Given the description of an element on the screen output the (x, y) to click on. 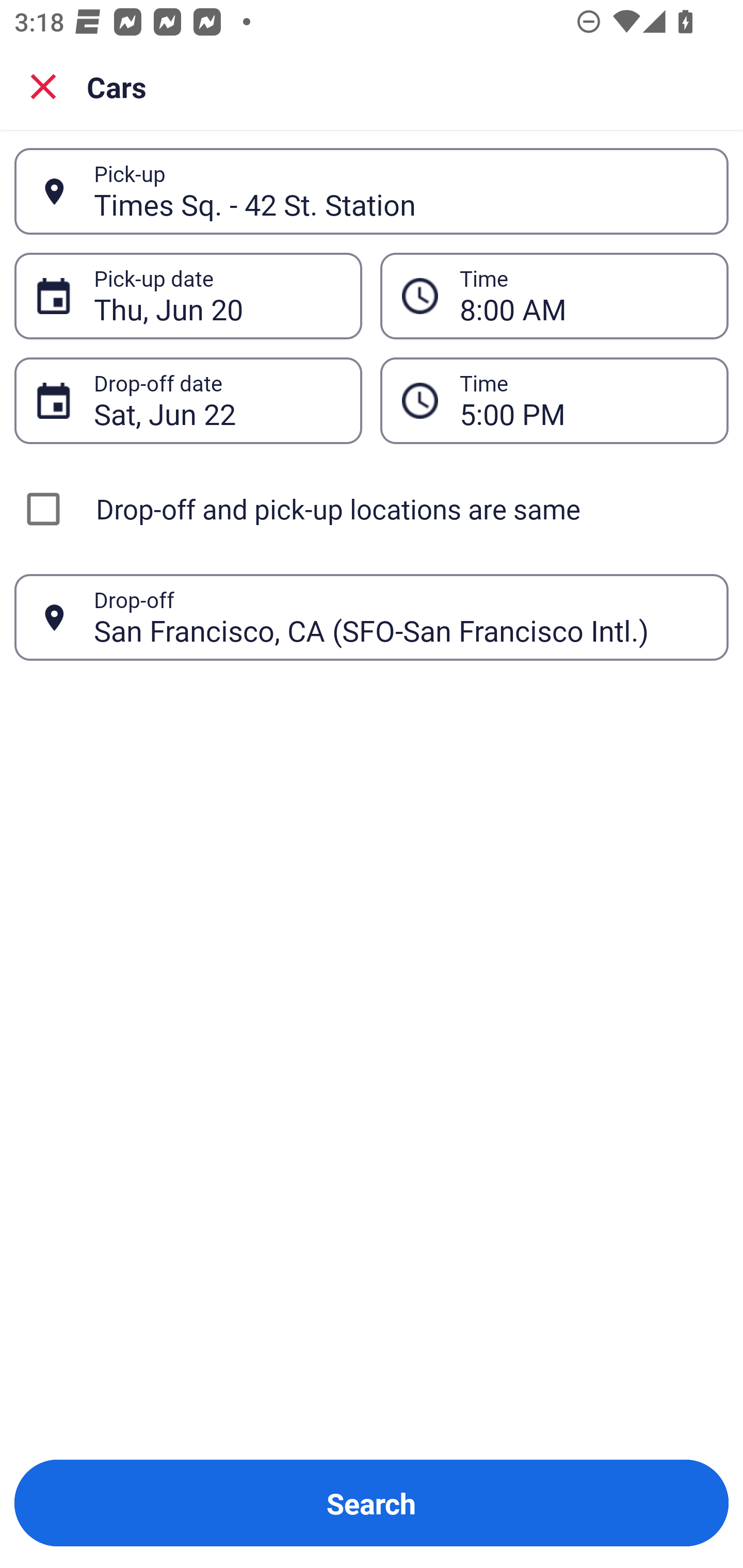
Close search screen (43, 86)
Times Sq. - 42 St. Station Pick-up (371, 191)
Times Sq. - 42 St. Station (399, 191)
Thu, Jun 20 Pick-up date (188, 295)
8:00 AM (554, 295)
Thu, Jun 20 (216, 296)
8:00 AM (582, 296)
Sat, Jun 22 Drop-off date (188, 400)
5:00 PM (554, 400)
Sat, Jun 22 (216, 400)
5:00 PM (582, 400)
Drop-off and pick-up locations are same (371, 508)
San Francisco, CA (SFO-San Francisco Intl.) (399, 616)
Search Button Search (371, 1502)
